Given the description of an element on the screen output the (x, y) to click on. 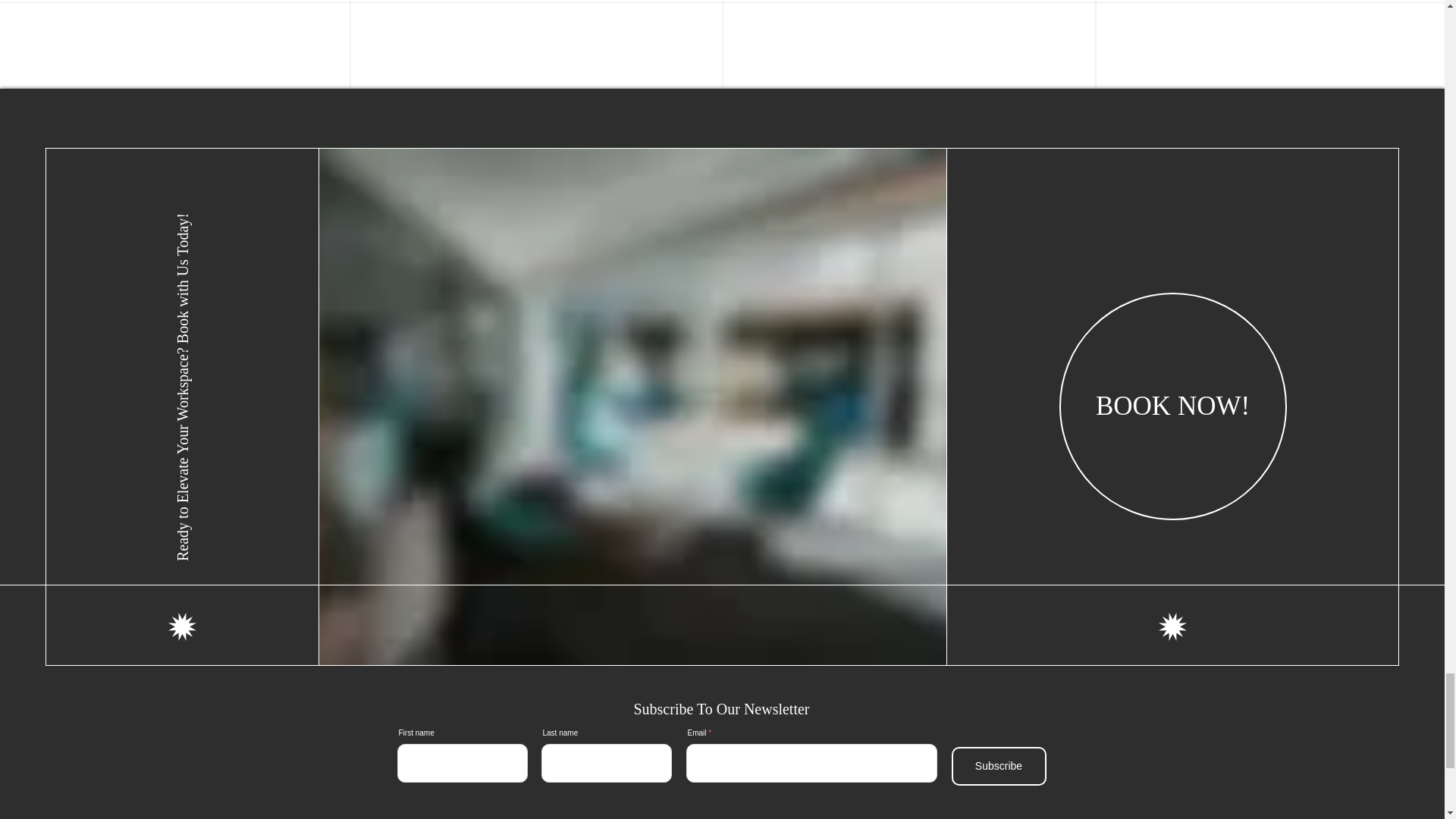
BOOK NOW! (1173, 406)
Subscribe (997, 765)
